Given the description of an element on the screen output the (x, y) to click on. 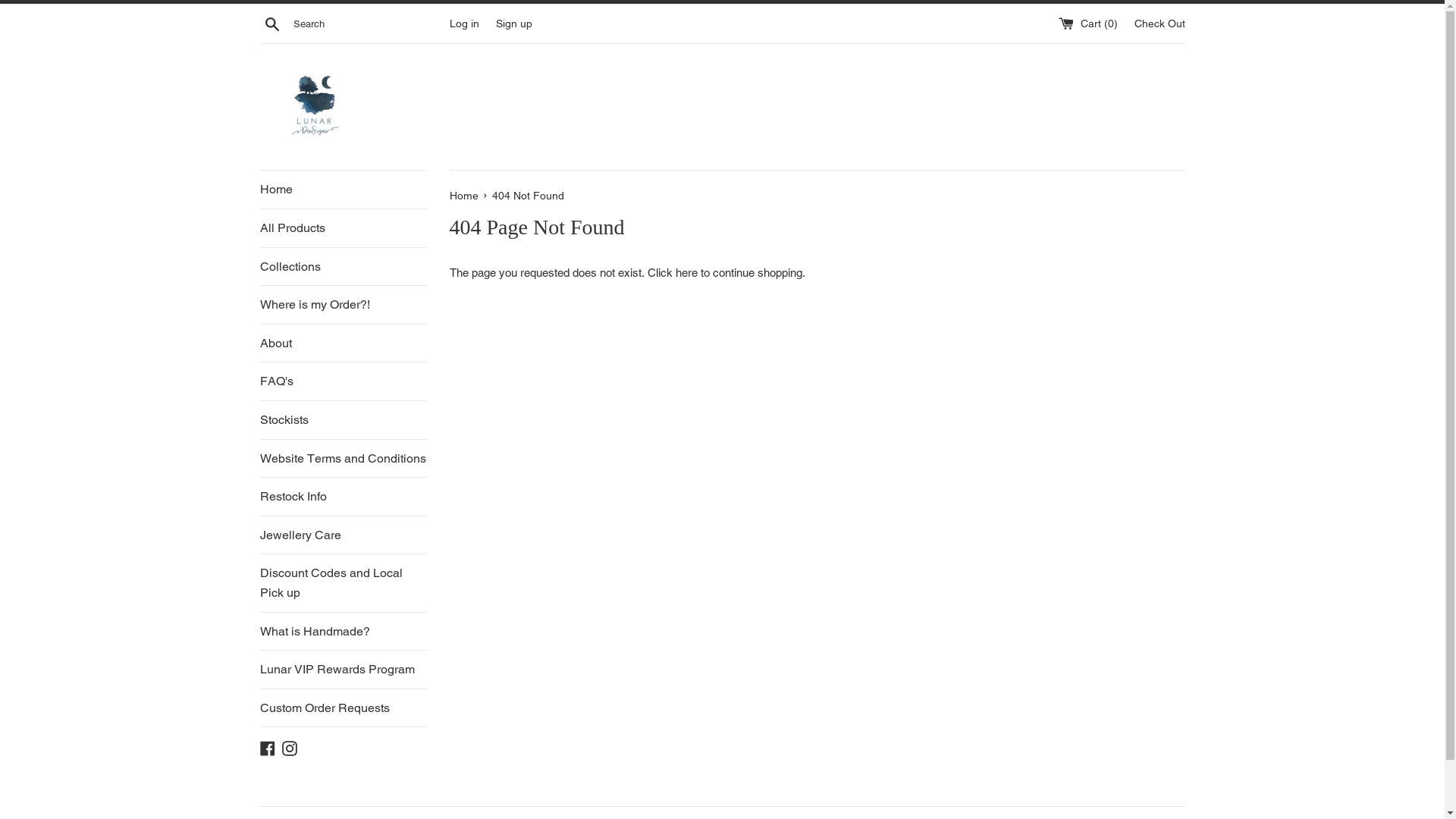
Website Terms and Conditions Element type: text (342, 458)
What is Handmade? Element type: text (342, 631)
Discount Codes and Local Pick up Element type: text (342, 582)
Where is my Order?! Element type: text (342, 304)
Collections Element type: text (342, 266)
Custom Order Requests Element type: text (342, 708)
here Element type: text (685, 272)
Log in Element type: text (463, 22)
Sign up Element type: text (513, 22)
Home Element type: text (464, 195)
Home Element type: text (342, 189)
Cart (0) Element type: text (1089, 22)
Stockists Element type: text (342, 420)
Instagram Element type: text (289, 746)
Facebook Element type: text (266, 746)
Restock Info Element type: text (342, 496)
Lunar VIP Rewards Program Element type: text (342, 669)
FAQ's Element type: text (342, 381)
Search Element type: text (271, 23)
Jewellery Care Element type: text (342, 535)
About Element type: text (342, 343)
All Products Element type: text (342, 228)
Check Out Element type: text (1159, 22)
